Given the description of an element on the screen output the (x, y) to click on. 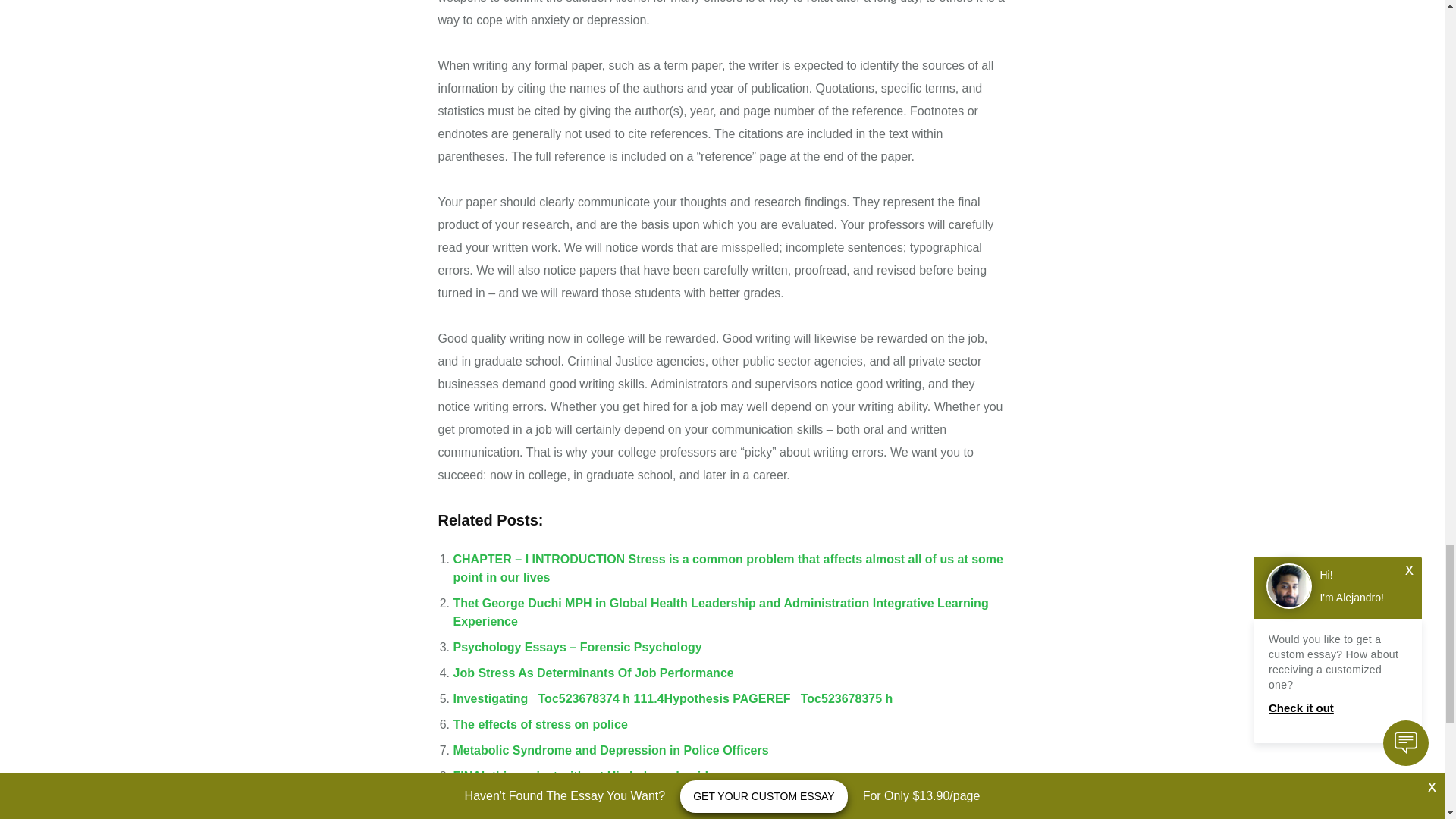
Police Corruption Policing (528, 801)
FINAL this project without His help and guidance, (595, 775)
Job Stress As Determinants Of Job Performance (592, 672)
Metabolic Syndrome and Depression in Police Officers (610, 749)
FINAL this project without His help and guidance, (595, 775)
Job Stress As Determinants Of Job Performance (592, 672)
The effects of stress on police (539, 724)
Police Corruption Policing (528, 801)
Metabolic Syndrome and Depression in Police Officers (610, 749)
The effects of stress on police (539, 724)
